Given the description of an element on the screen output the (x, y) to click on. 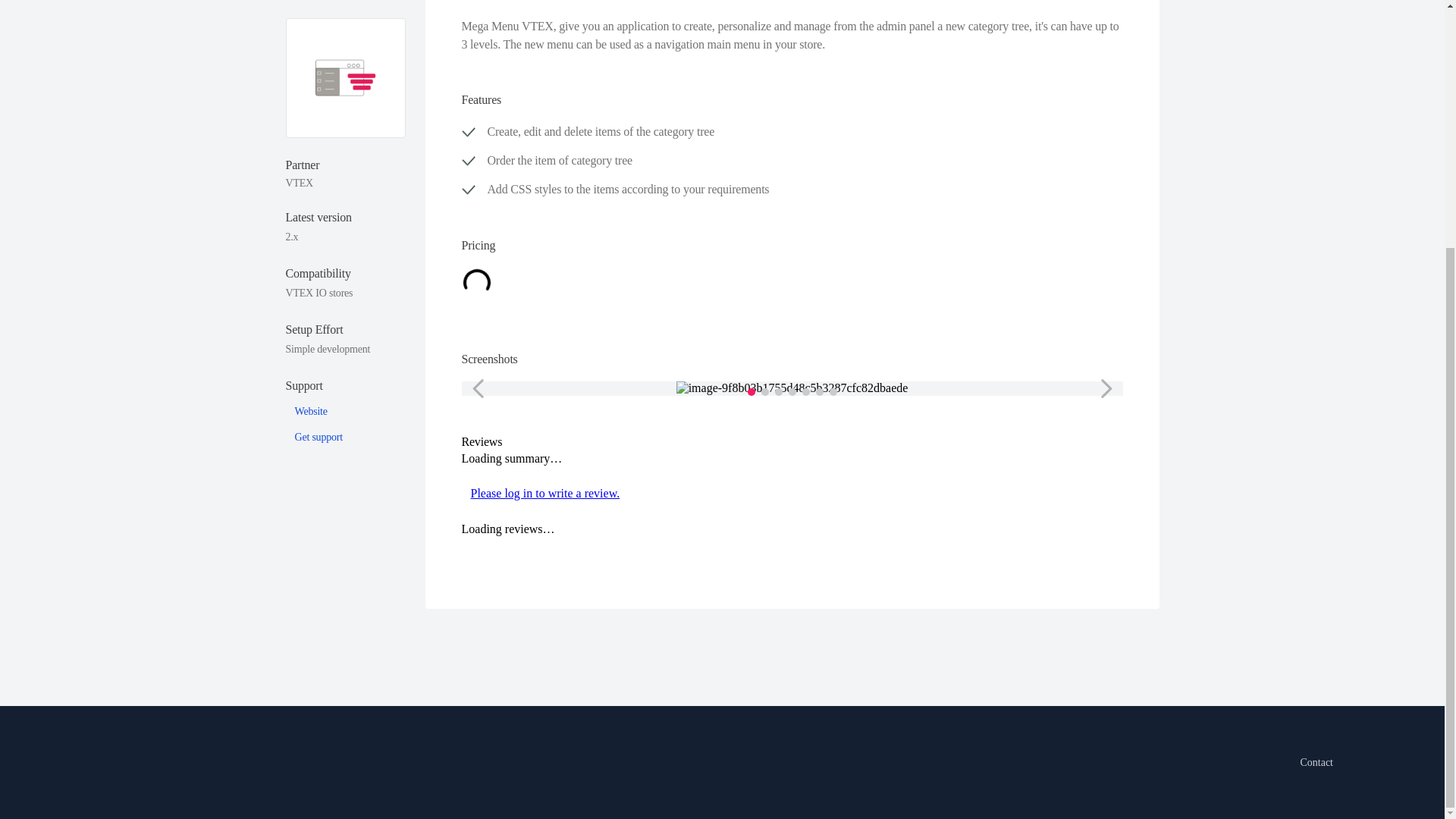
Please log in to write a review. (791, 493)
Contact (1316, 762)
Website (310, 220)
Get support (318, 246)
